Given the description of an element on the screen output the (x, y) to click on. 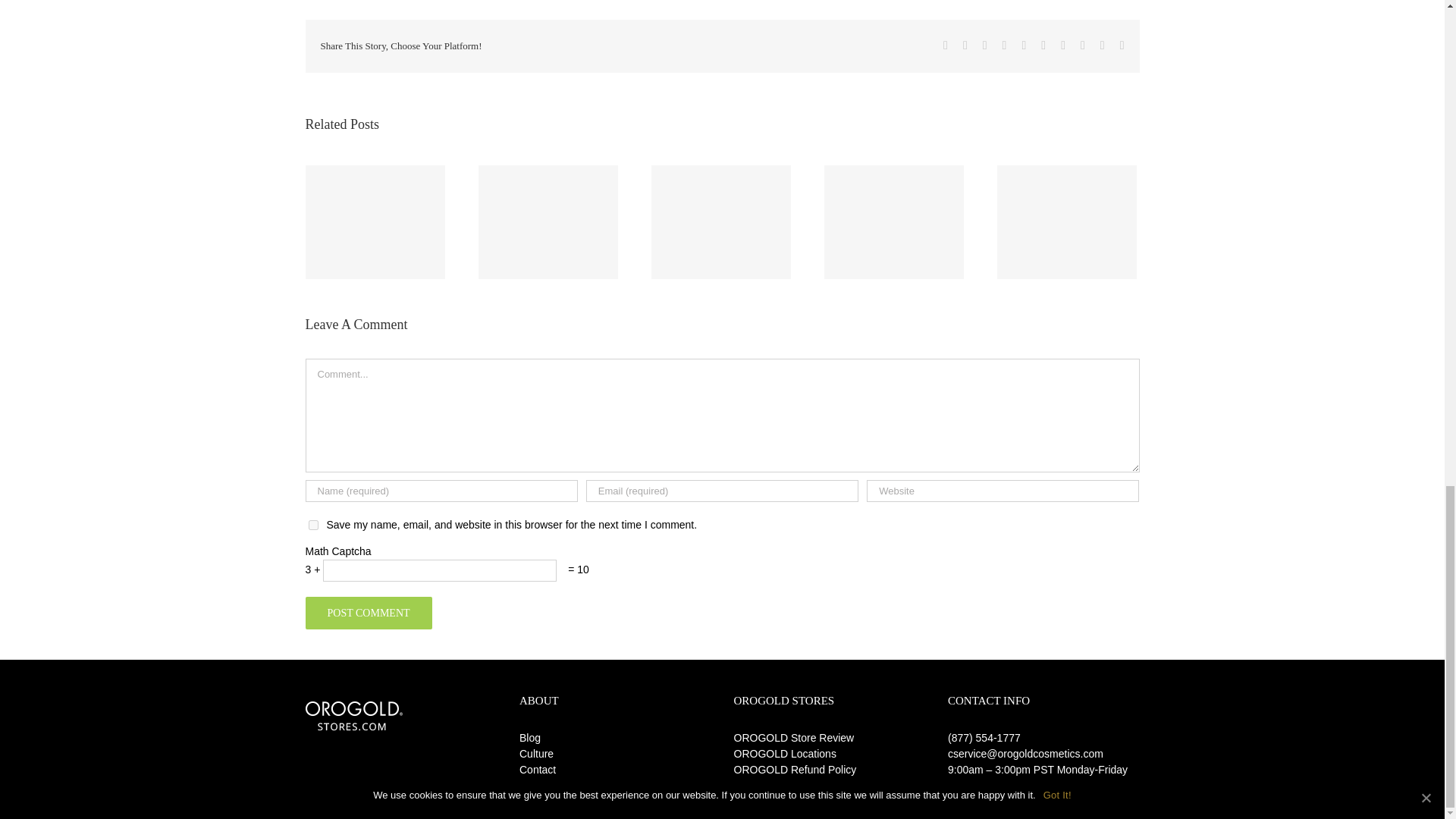
yes (312, 524)
Post Comment (367, 613)
